Given the description of an element on the screen output the (x, y) to click on. 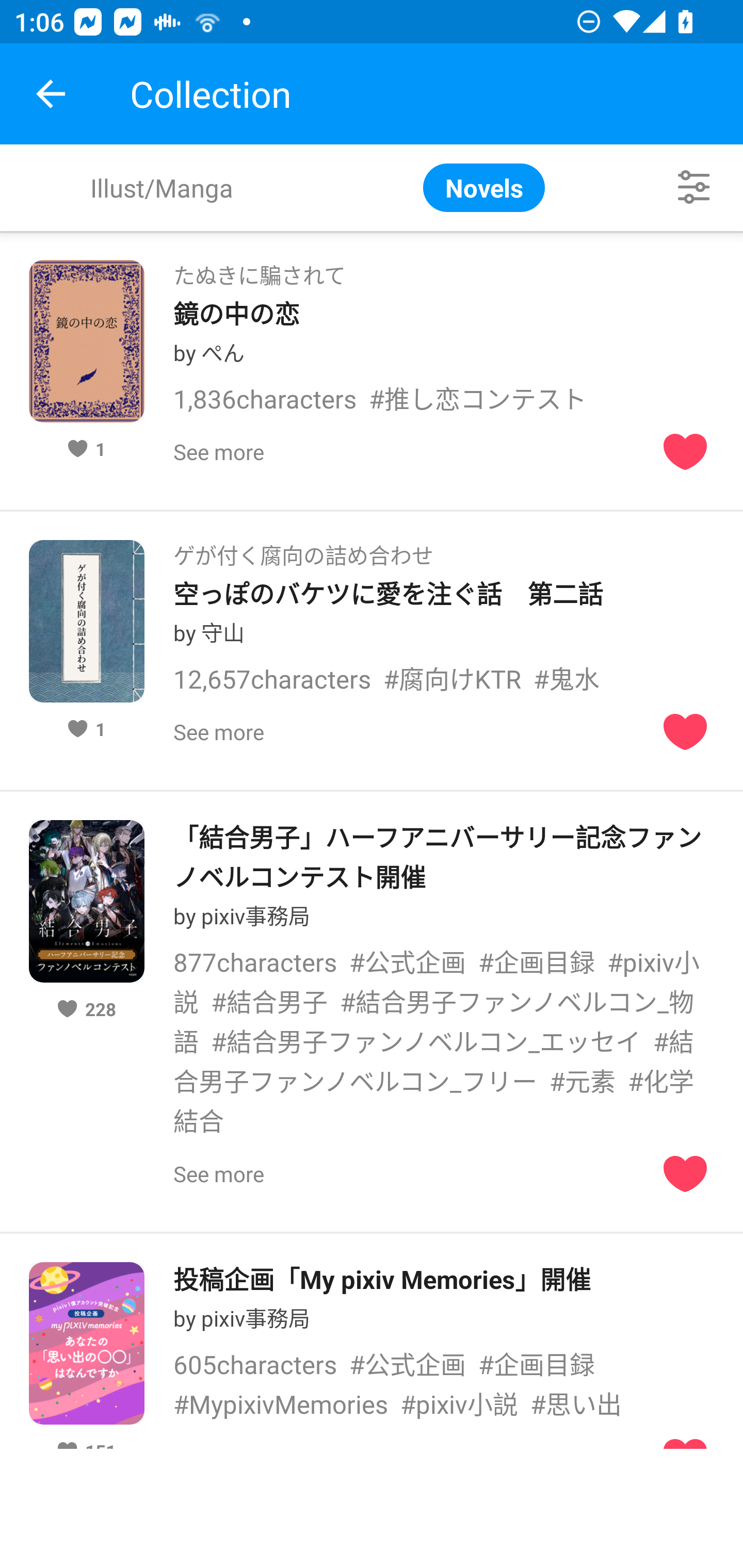
Navigate up (50, 93)
Illust/Manga (161, 187)
Novels (483, 187)
たぬきに騙されて (259, 269)
ゲが付く腐向の詰め合わせ (303, 549)
